Given the description of an element on the screen output the (x, y) to click on. 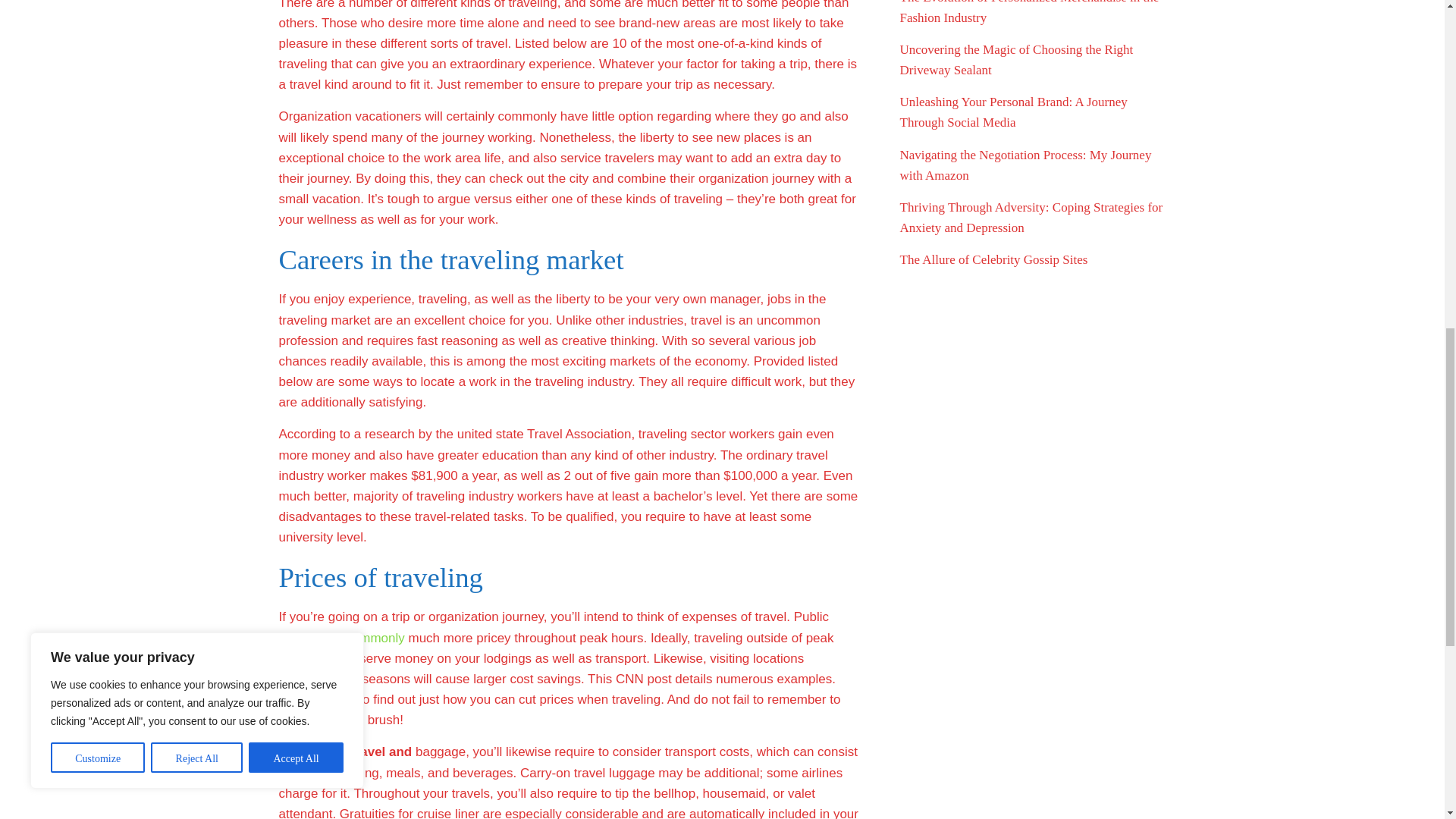
Uncovering the Magic of Choosing the Right Driveway Sealant (1015, 59)
commonly (375, 637)
